Given the description of an element on the screen output the (x, y) to click on. 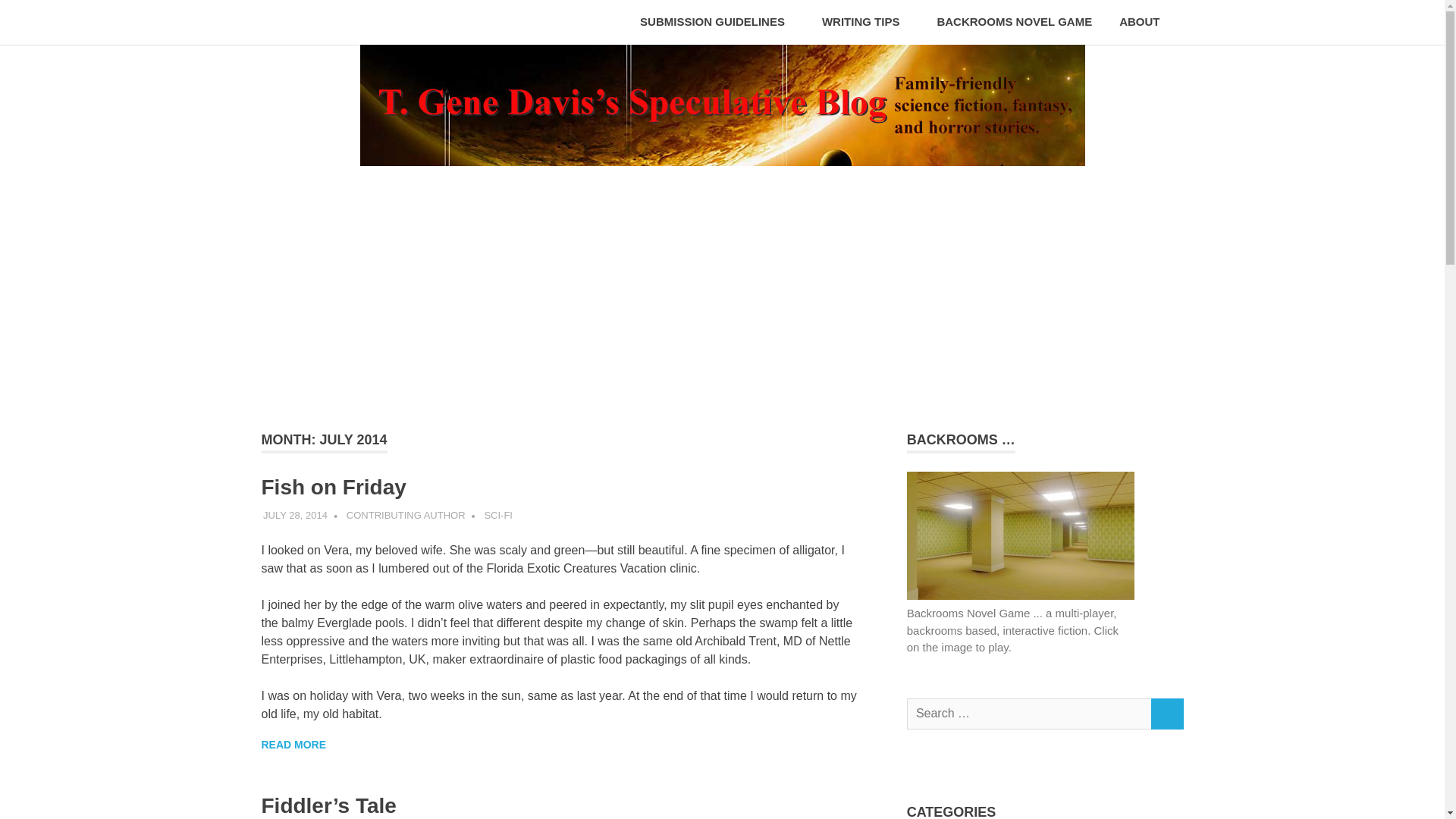
8:00 am (295, 514)
BACKROOMS NOVEL GAME (1014, 22)
ABOUT (1143, 22)
Search for: (1029, 713)
JULY 28, 2014 (295, 514)
SUBMISSION GUIDELINES (717, 22)
CONTRIBUTING AUTHOR (405, 514)
READ MORE (293, 744)
Backrooms ... (1020, 535)
SCI-FI (497, 514)
